Given the description of an element on the screen output the (x, y) to click on. 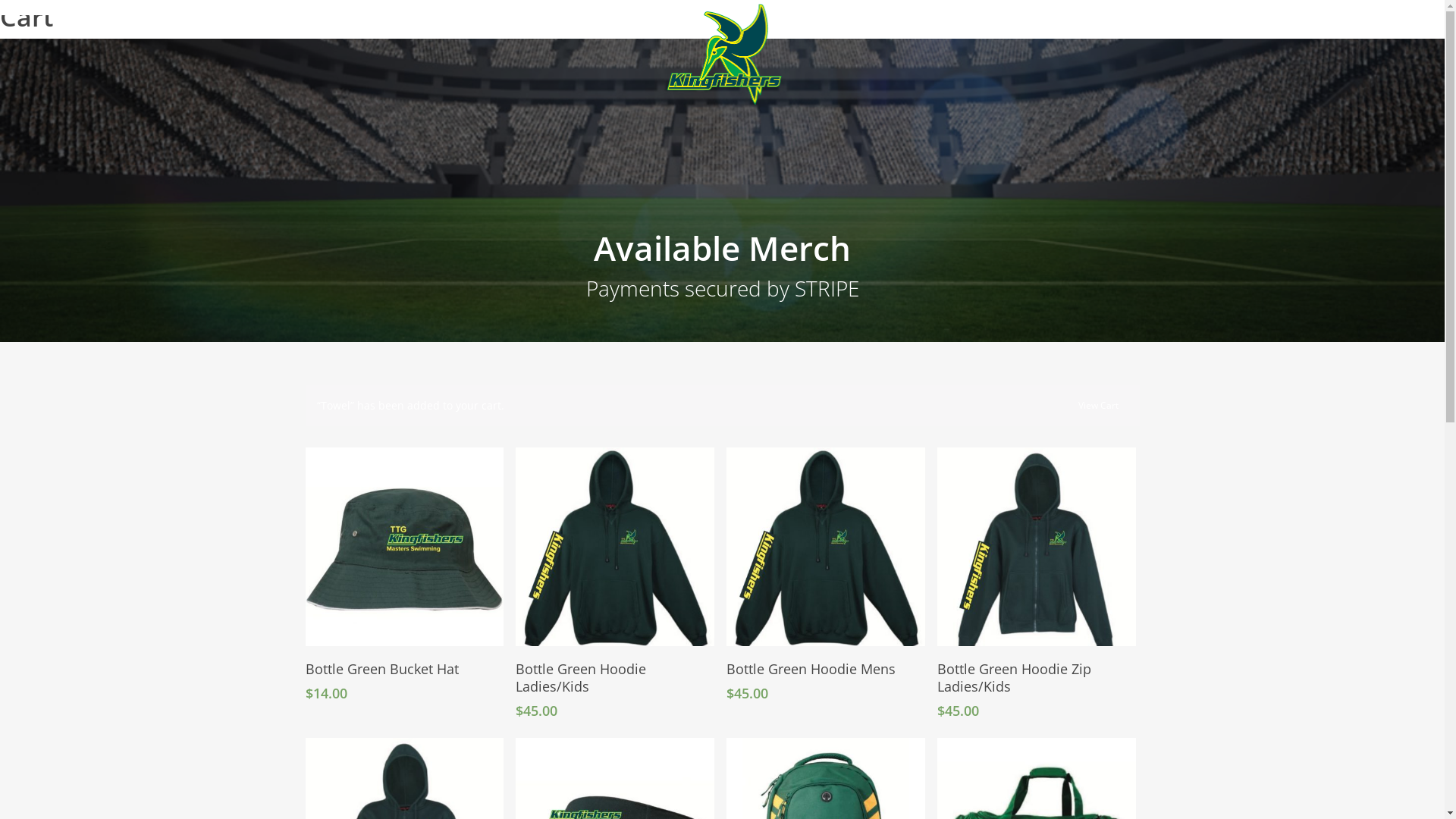
View Cart Element type: text (1098, 402)
